Given the description of an element on the screen output the (x, y) to click on. 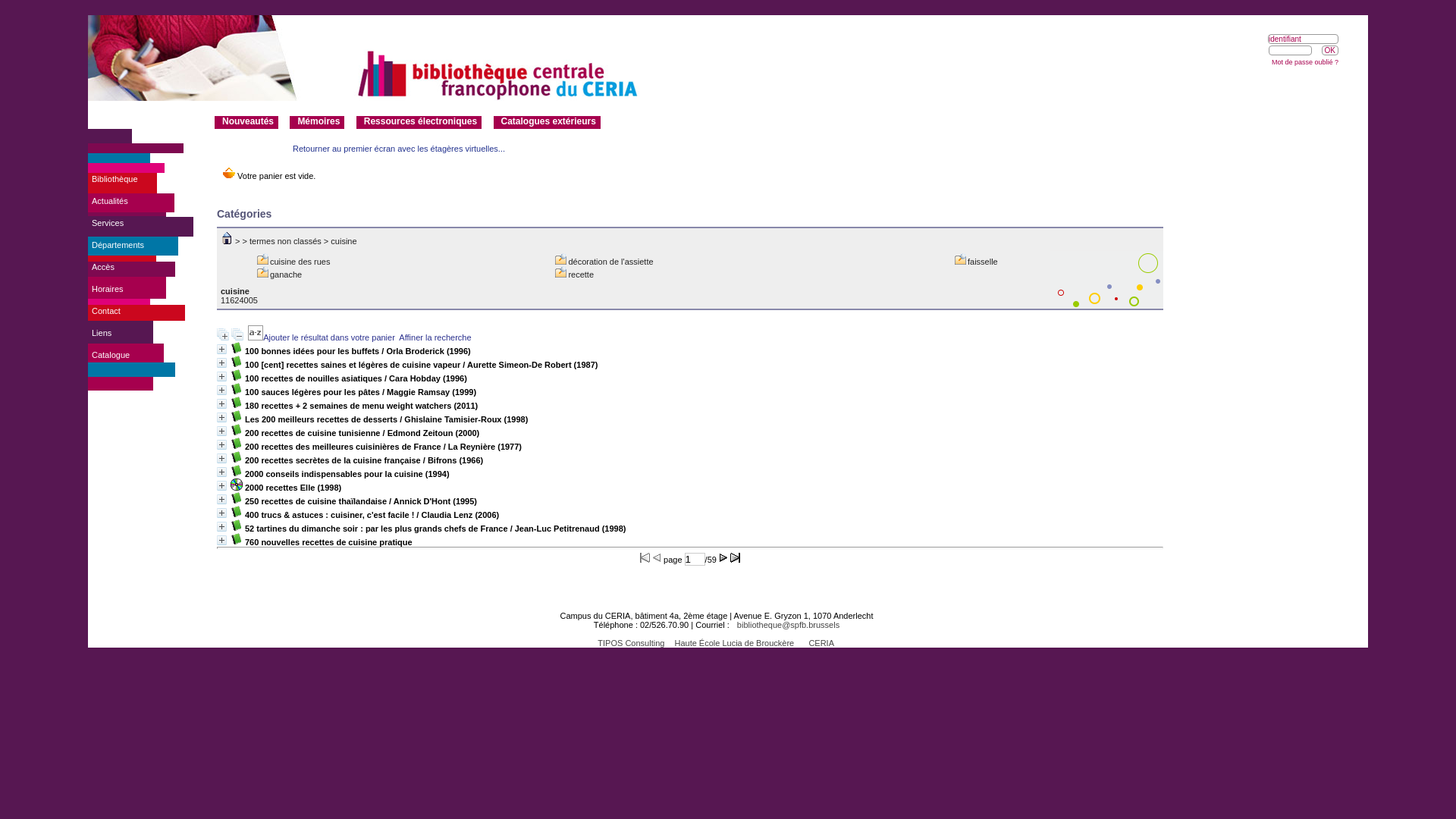
Liens Element type: text (101, 332)
Services Element type: text (107, 222)
cuisine Element type: text (343, 240)
Horaires Element type: text (107, 288)
bibliotheque@spfb.brussels Element type: text (784, 624)
faisselle Element type: text (982, 261)
Contact Element type: text (105, 310)
page suivante Element type: hover (723, 557)
Catalogue Element type: text (110, 354)
ganache Element type: text (285, 274)
ok Element type: text (1329, 50)
TIPOS Consulting Element type: text (626, 642)
Tris disponibles Element type: hover (255, 337)
cuisine des rues Element type: text (299, 261)
Affiner la recherche Element type: text (434, 337)
recette Element type: text (580, 274)
CERIA Element type: text (816, 642)
